Given the description of an element on the screen output the (x, y) to click on. 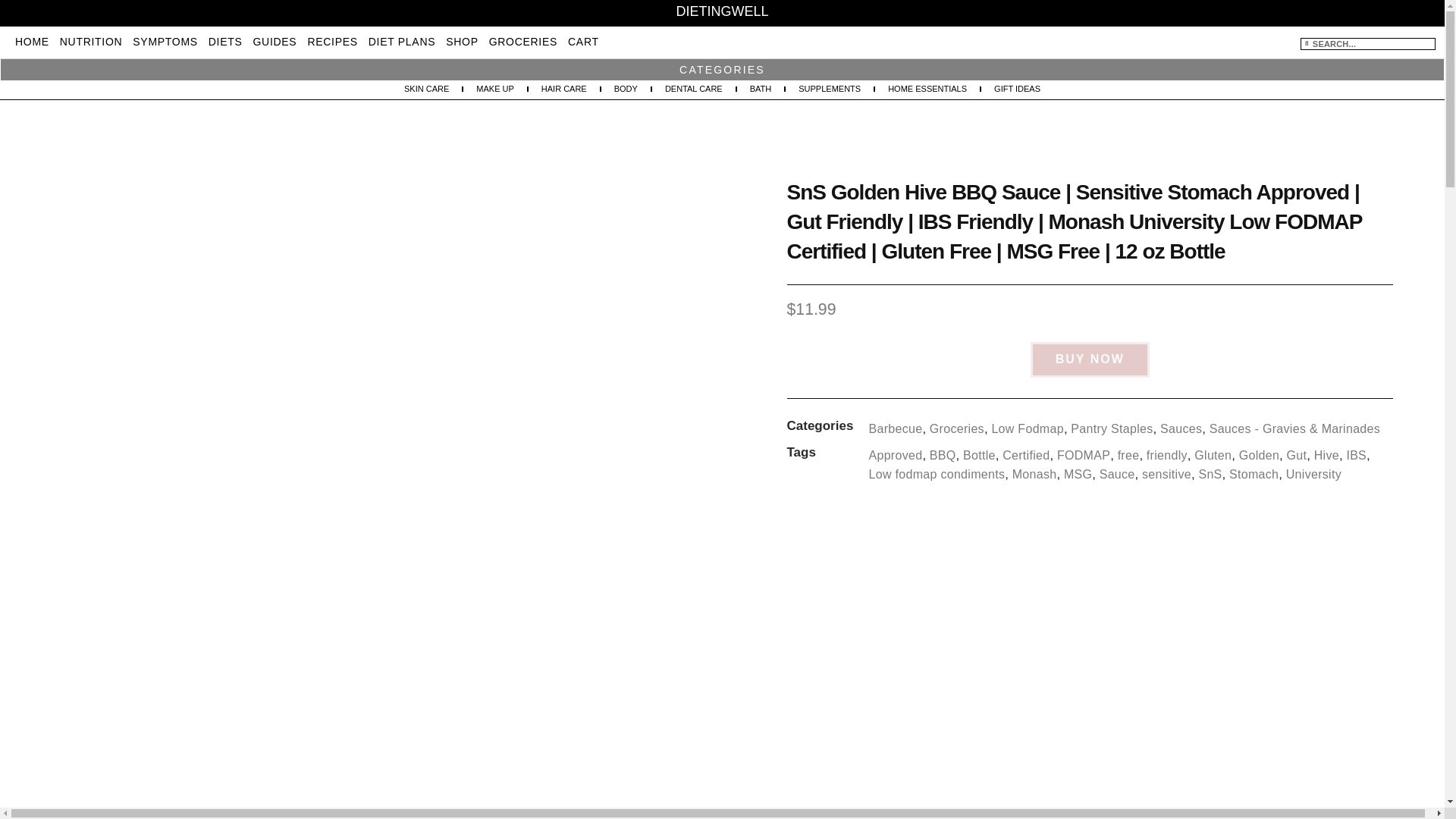
GUIDES (274, 41)
HOME (31, 41)
DIETINGWELL (721, 11)
DIETS (225, 41)
NUTRITION (90, 41)
SYMPTOMS (164, 41)
